Given the description of an element on the screen output the (x, y) to click on. 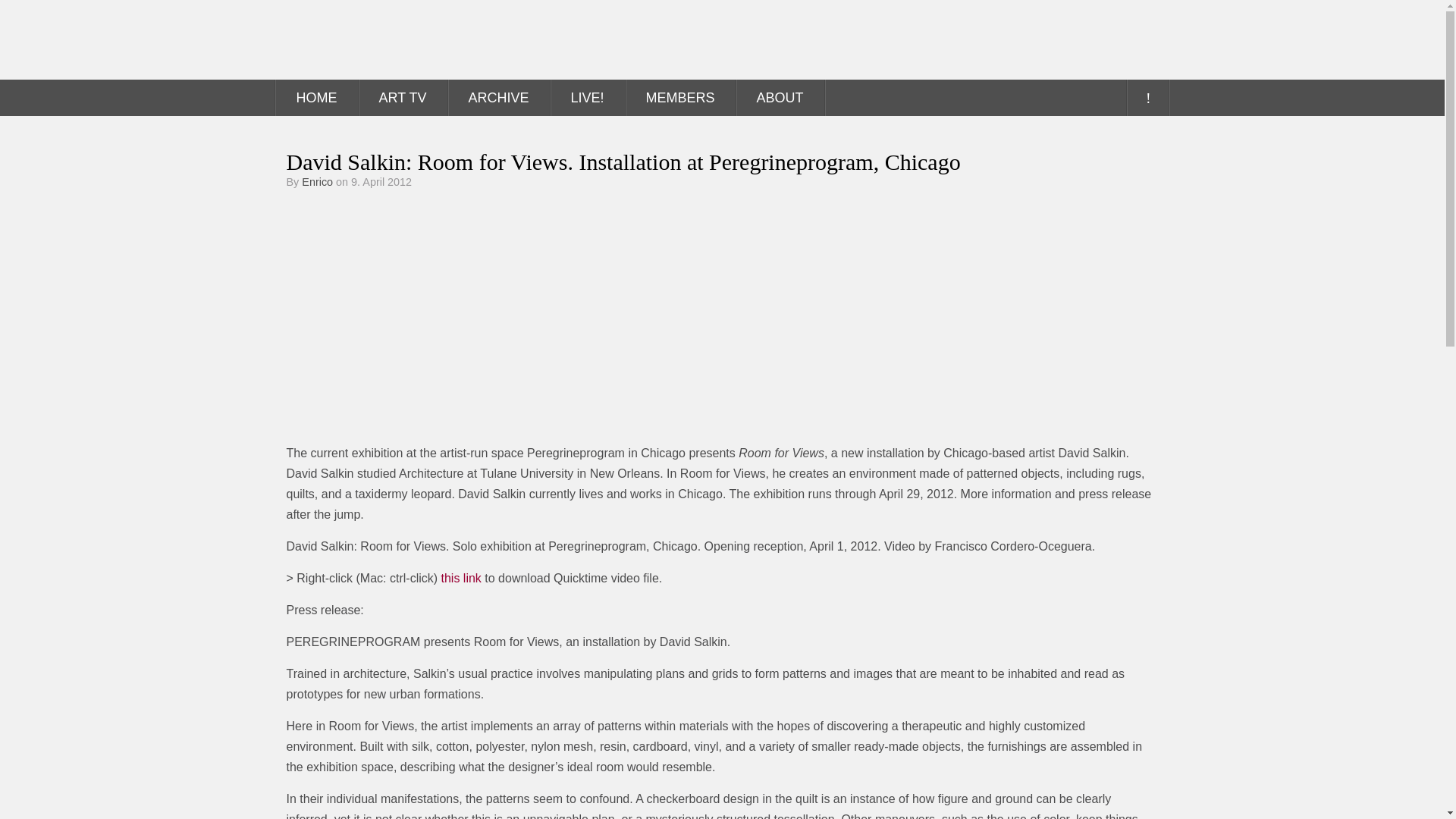
MEMBERS (680, 97)
VernissageTV Art TV - the window to the art world (350, 39)
ARCHIVE (499, 97)
David Salkin: Room for Views (475, 314)
ART TV (402, 97)
SEARCH (1146, 97)
LIVE! (587, 97)
View all posts by Enrico (317, 182)
HOME (317, 97)
Enrico (317, 182)
this link (461, 577)
ABOUT (780, 97)
